Given the description of an element on the screen output the (x, y) to click on. 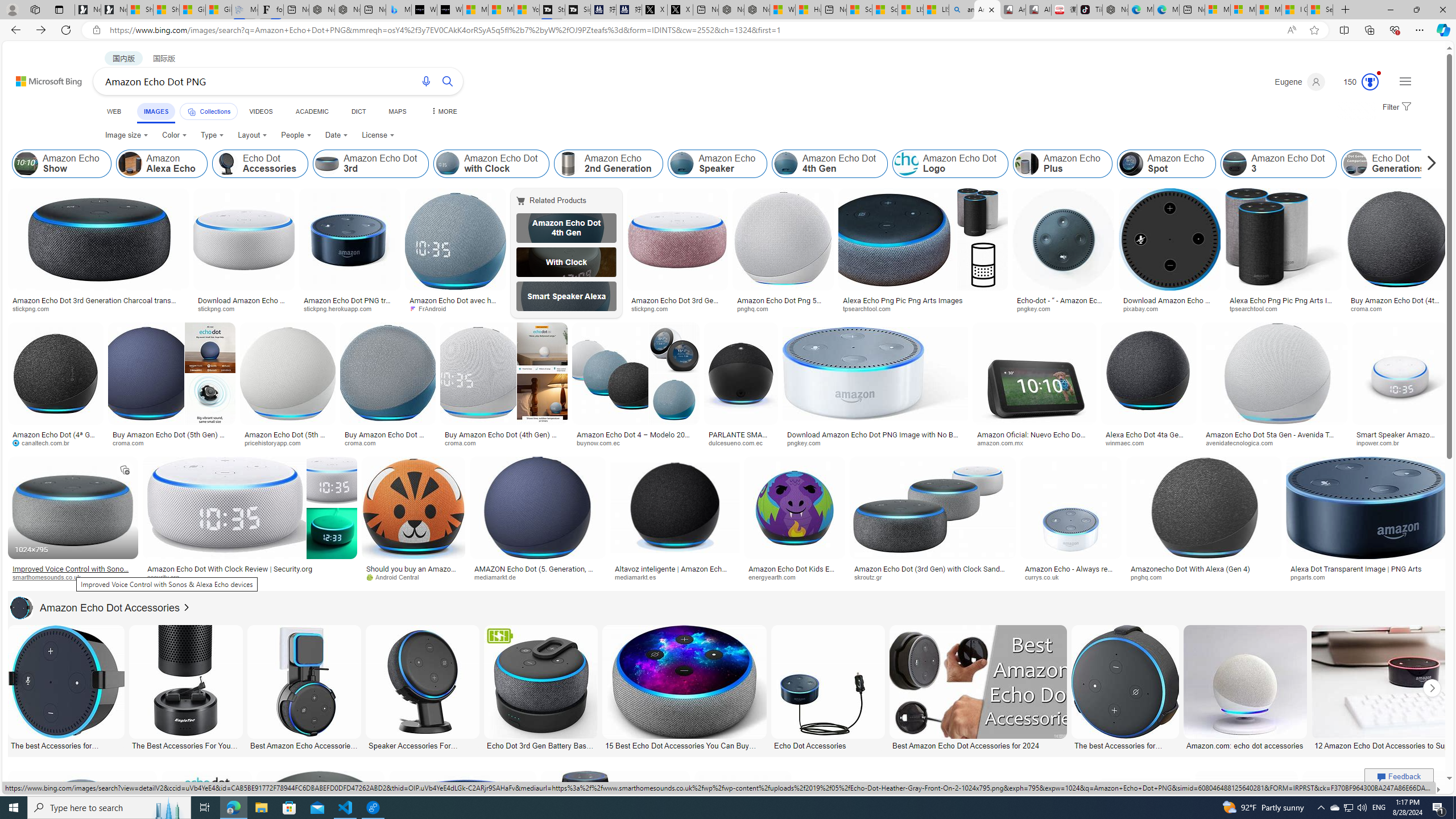
Amazonecho Dot With Alexa (Gen 4) (1190, 568)
Class: item col (1388, 163)
Alexa Dot Transparent Image | PNG Artspngarts.comSave (1366, 521)
croma.com (503, 442)
Amazon Echo Dot 3 (1278, 163)
Amazon Echo Dot Accessories (21, 607)
Nordace - Summer Adventures 2024 (756, 9)
Echo Dot Generations (1355, 163)
stickpng.com (677, 308)
Alexa Echo Png Pic Png Arts Imagestpsearchtool.comSave (924, 252)
